Given the description of an element on the screen output the (x, y) to click on. 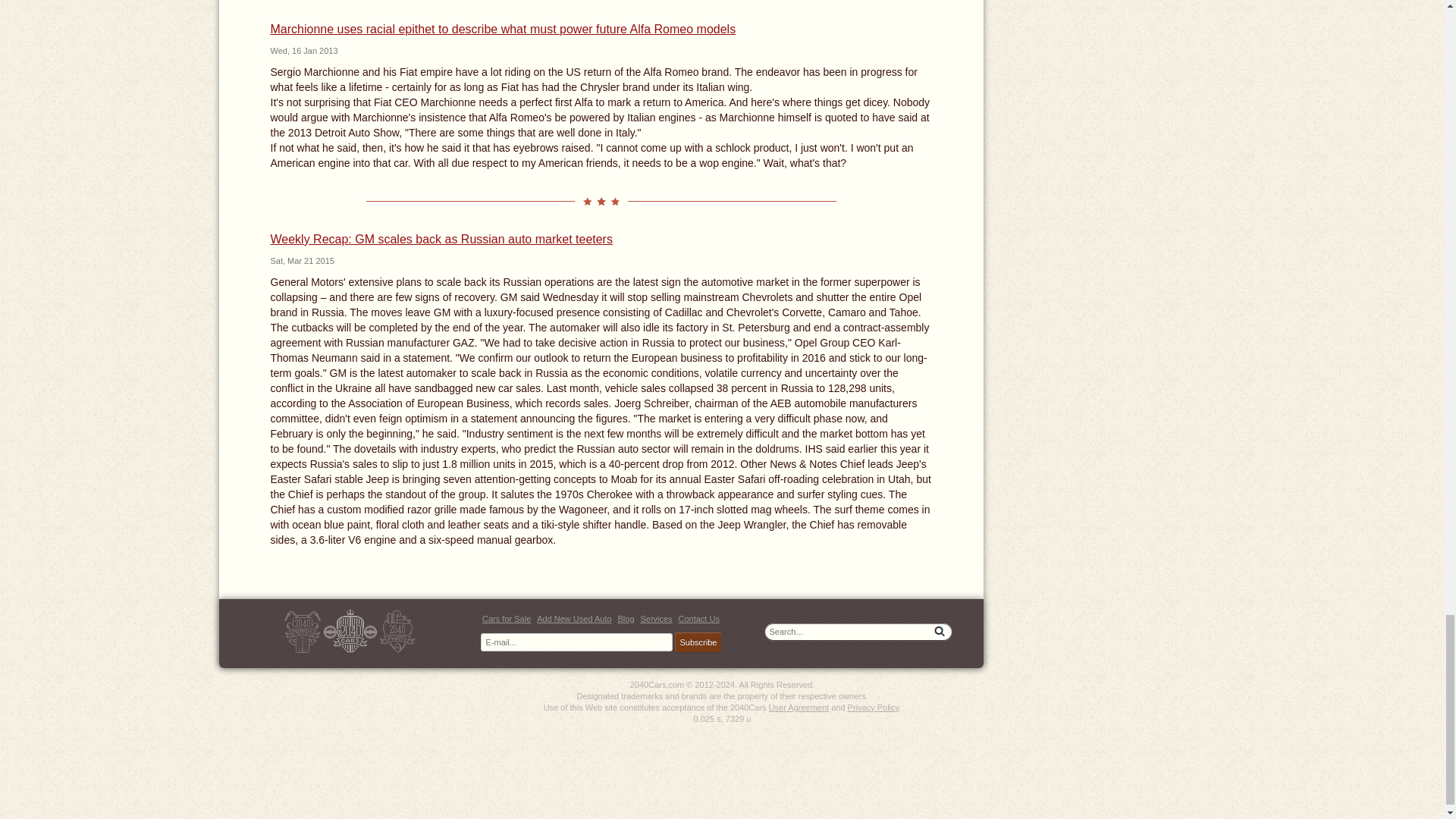
Weekly Recap: GM scales back as Russian auto market teeters (440, 238)
Add New Used Auto (574, 618)
Contact Us (698, 618)
Blog (625, 618)
Cars (350, 630)
Privacy Policy (873, 706)
Services (655, 618)
Cars for Sale (506, 618)
Subscribe (697, 641)
Subscribe (697, 641)
User Agreement (798, 706)
